Given the description of an element on the screen output the (x, y) to click on. 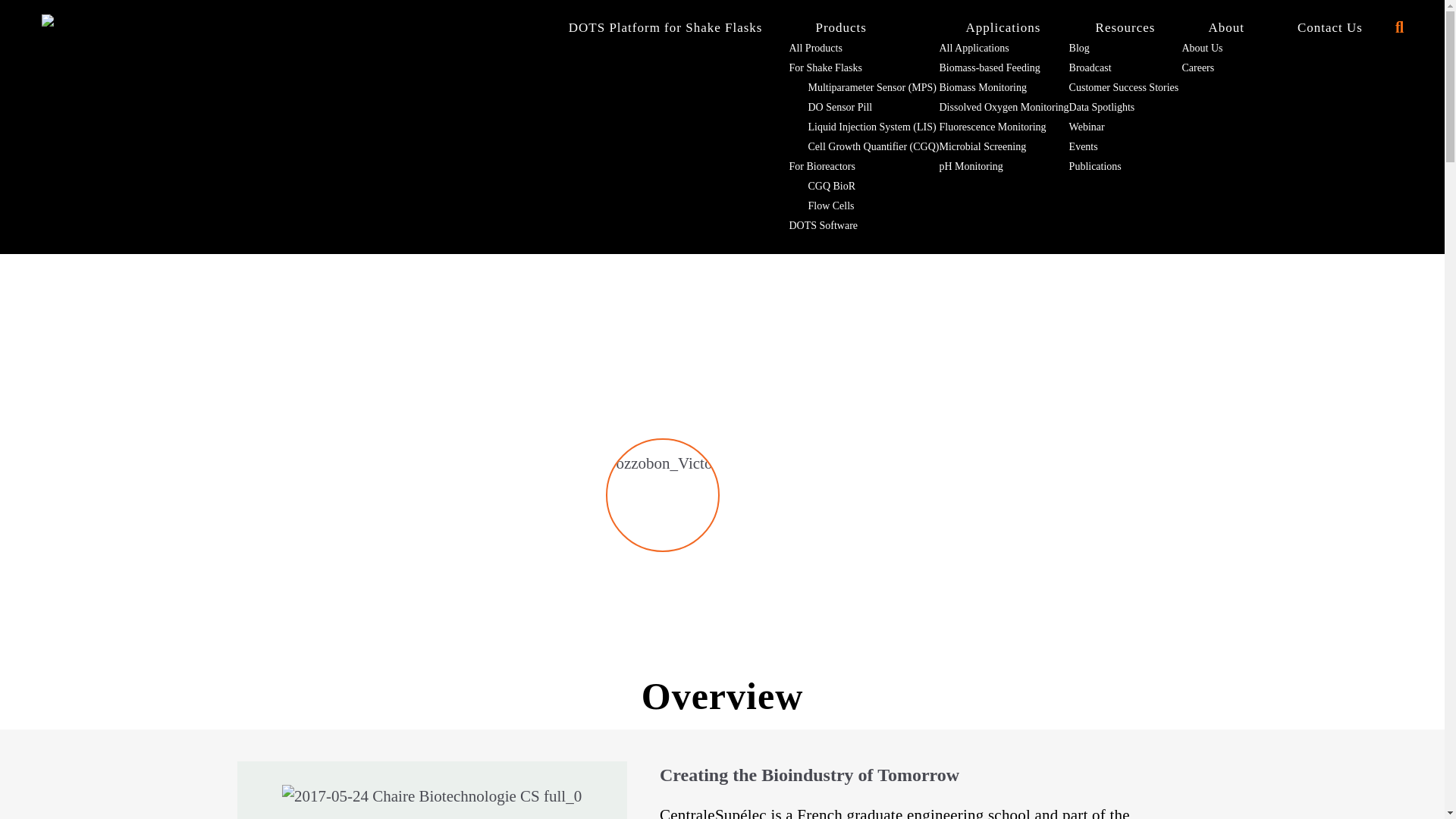
Flow Cells (821, 205)
Events (1082, 146)
Search (50, 19)
DO Sensor Pill (830, 107)
Products (841, 27)
Biomass-based Feeding (989, 67)
For Bioreactors (821, 165)
All Products (815, 48)
DOTS Software (823, 225)
Careers (1197, 67)
